Given the description of an element on the screen output the (x, y) to click on. 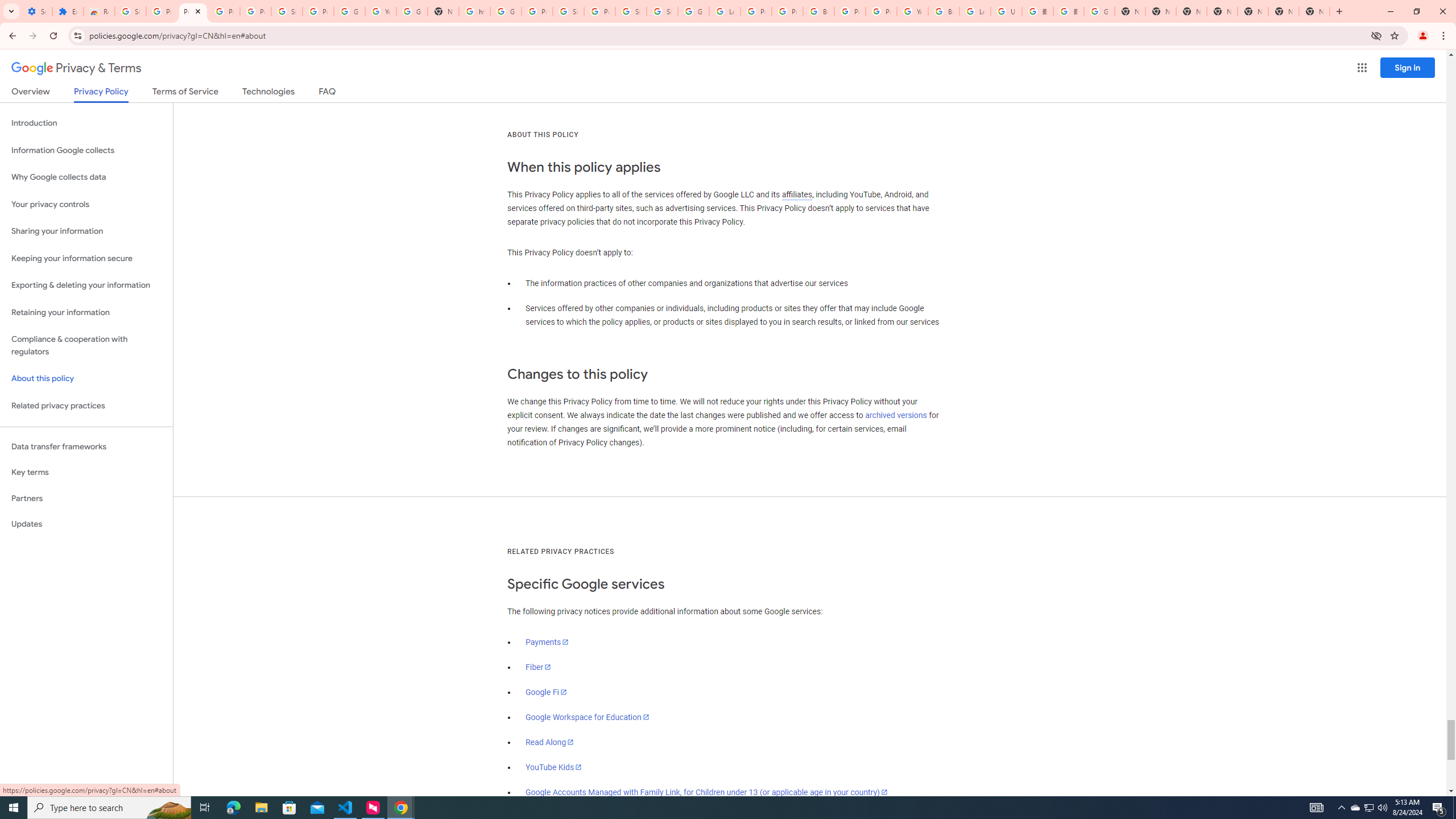
Privacy Help Center - Policies Help (756, 11)
Exporting & deleting your information (86, 284)
Retaining your information (86, 312)
Sign in - Google Accounts (130, 11)
YouTube Kids (553, 767)
Information Google collects (86, 150)
About this policy (86, 379)
Sign in - Google Accounts (662, 11)
Google Fi (545, 691)
Google Workspace for Education (587, 716)
https://scholar.google.com/ (474, 11)
